Given the description of an element on the screen output the (x, y) to click on. 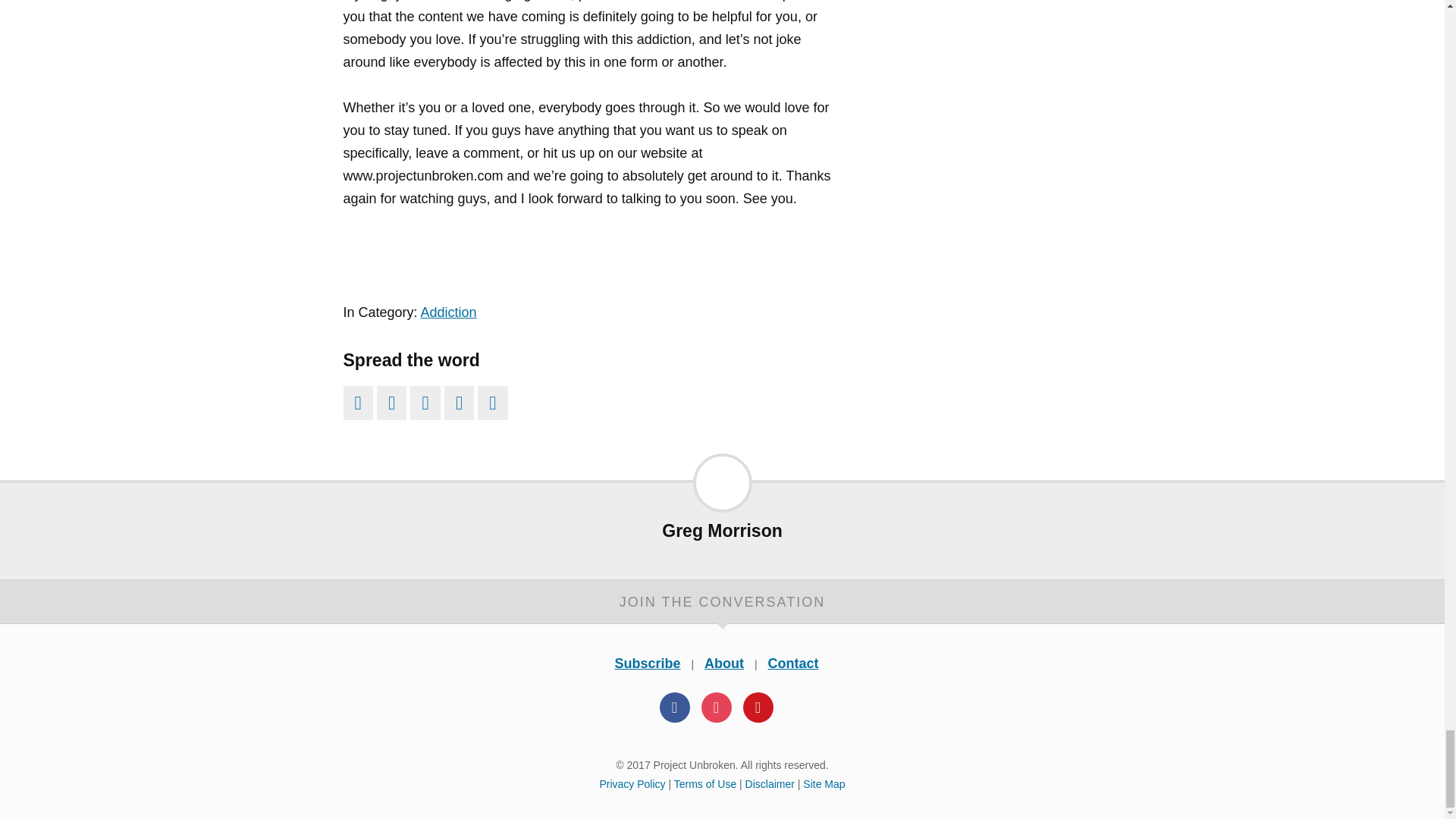
Addiction (448, 312)
Contact (792, 663)
About (724, 663)
Subscribe (647, 663)
